Given the description of an element on the screen output the (x, y) to click on. 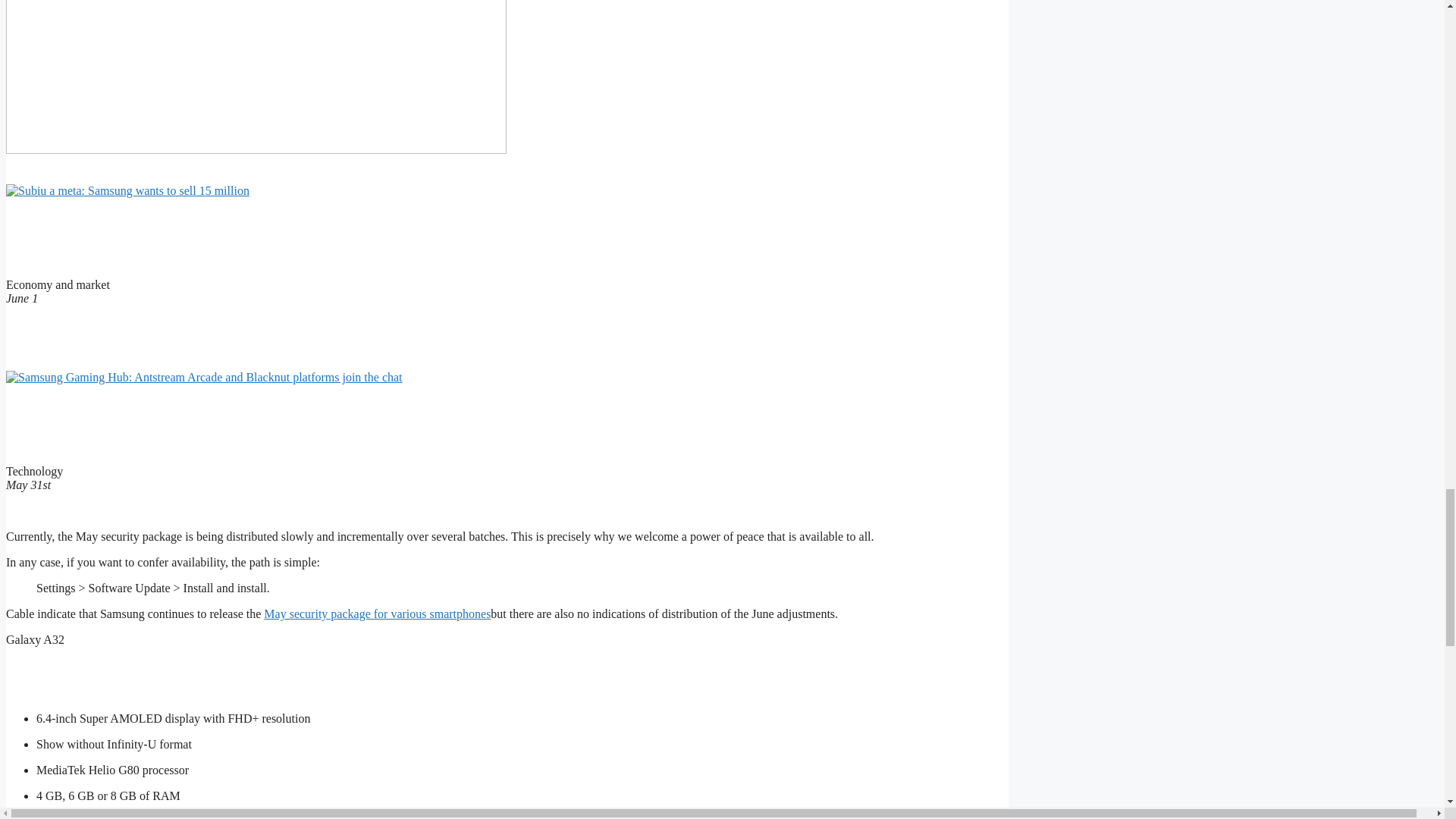
May security package for various smartphones (376, 613)
